Given the description of an element on the screen output the (x, y) to click on. 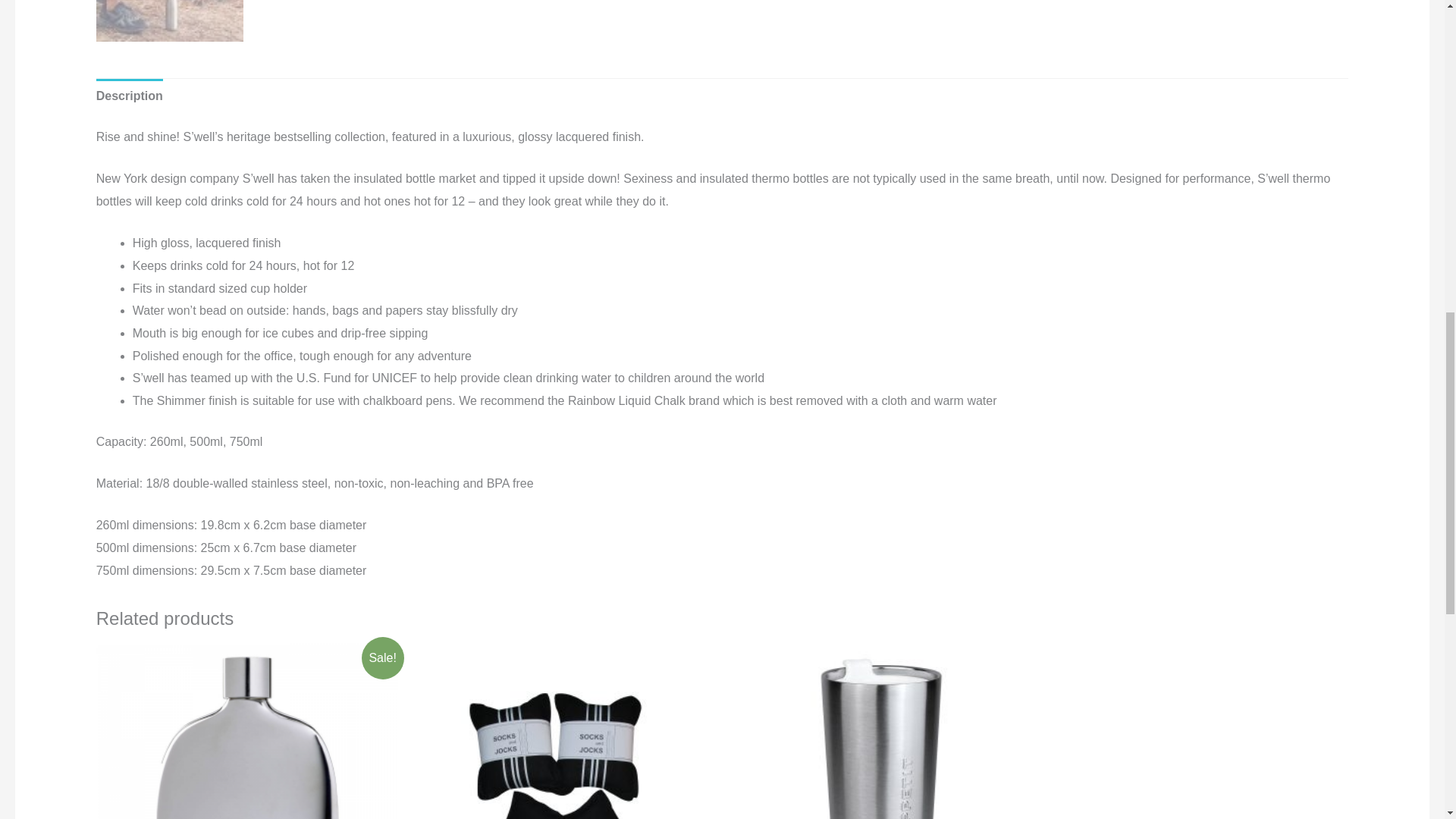
Description (129, 95)
